Given the description of an element on the screen output the (x, y) to click on. 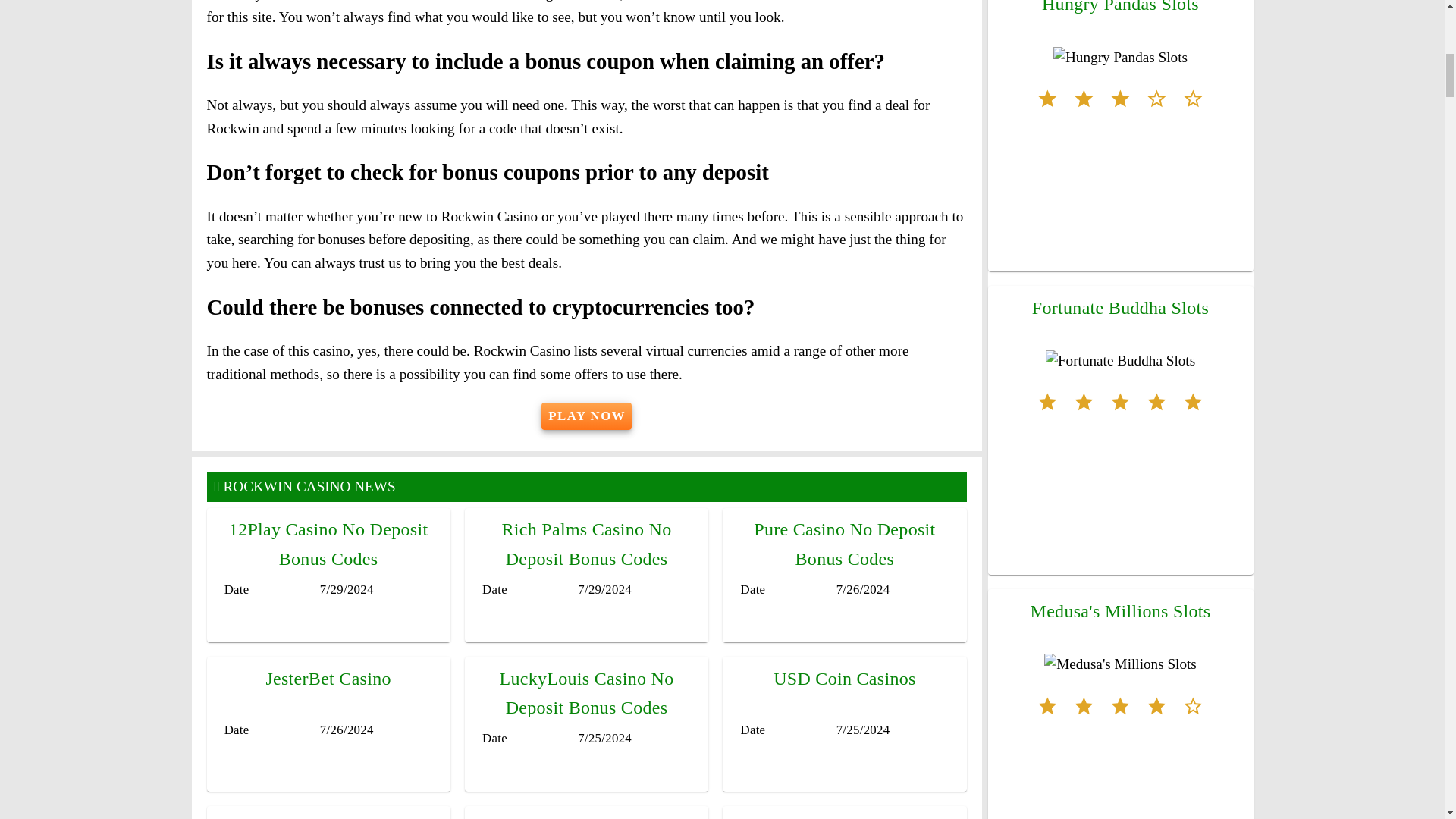
PLAY NOW (586, 415)
Pure Casino No Deposit Bonus Codes (844, 543)
USD Coin Casinos (844, 678)
Rich Palms Casino No Deposit Bonus Codes (585, 543)
12Play Casino No Deposit Bonus Codes (328, 543)
LuckyLouis Casino No Deposit Bonus Codes (585, 693)
Slots Shine Casino (327, 818)
JesterBet Casino (327, 678)
